Given the description of an element on the screen output the (x, y) to click on. 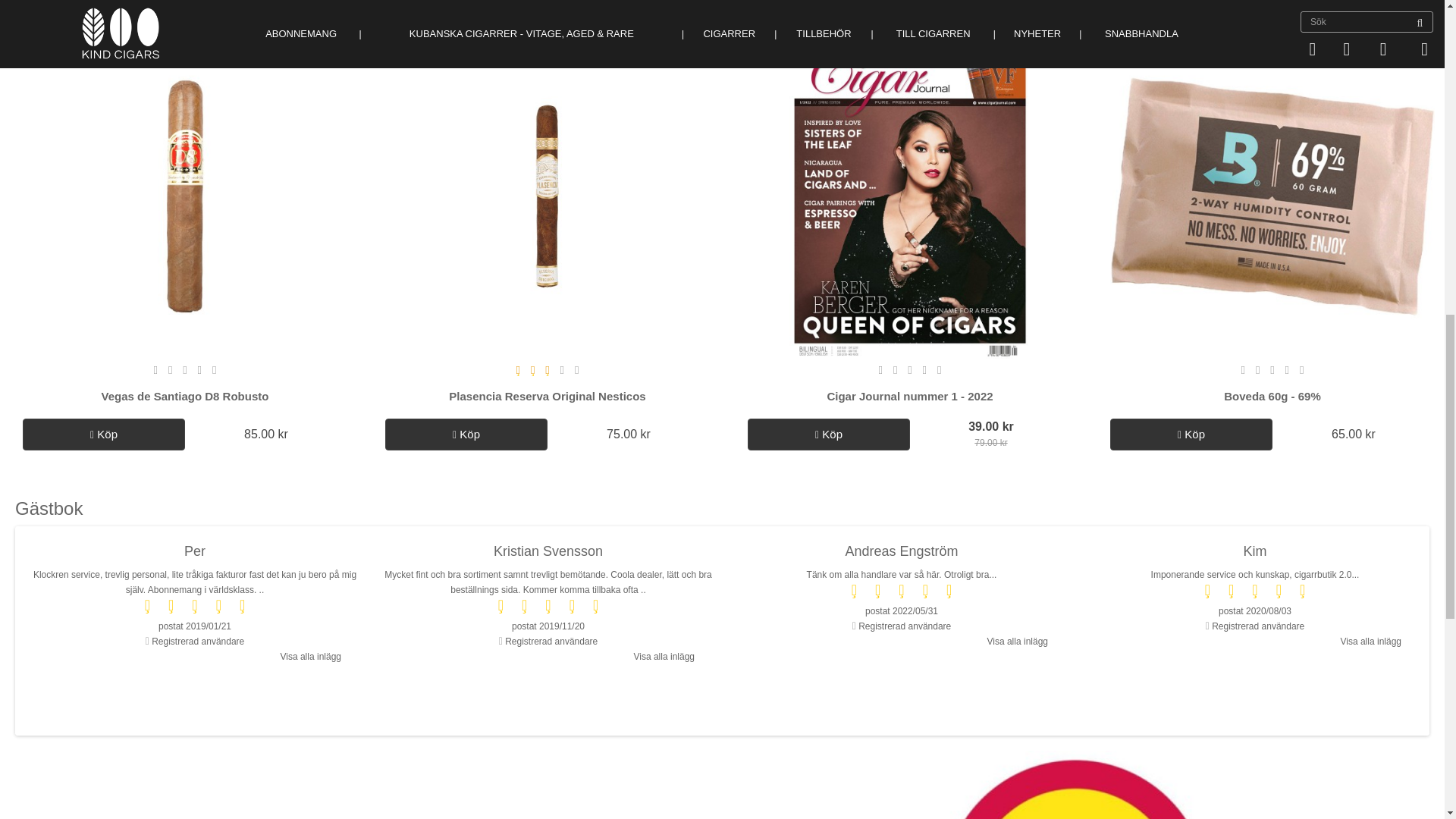
Vegas de Santiago D8 Robusto (185, 196)
Plasencia Reserva Original Nesticos (547, 196)
Vegas de Santiago D8 Robusto (185, 395)
